Given the description of an element on the screen output the (x, y) to click on. 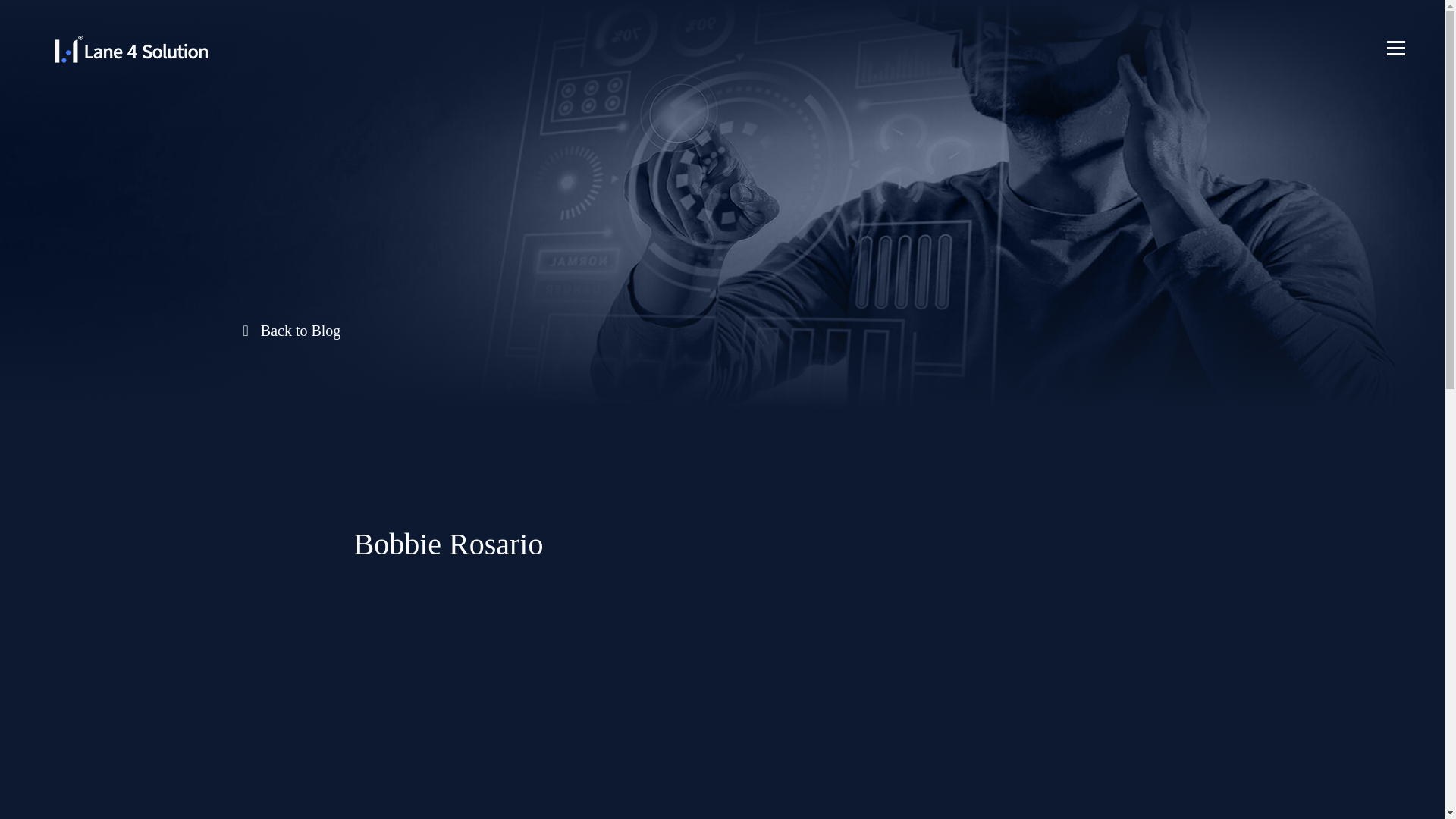
Back to Blog (727, 330)
